Given the description of an element on the screen output the (x, y) to click on. 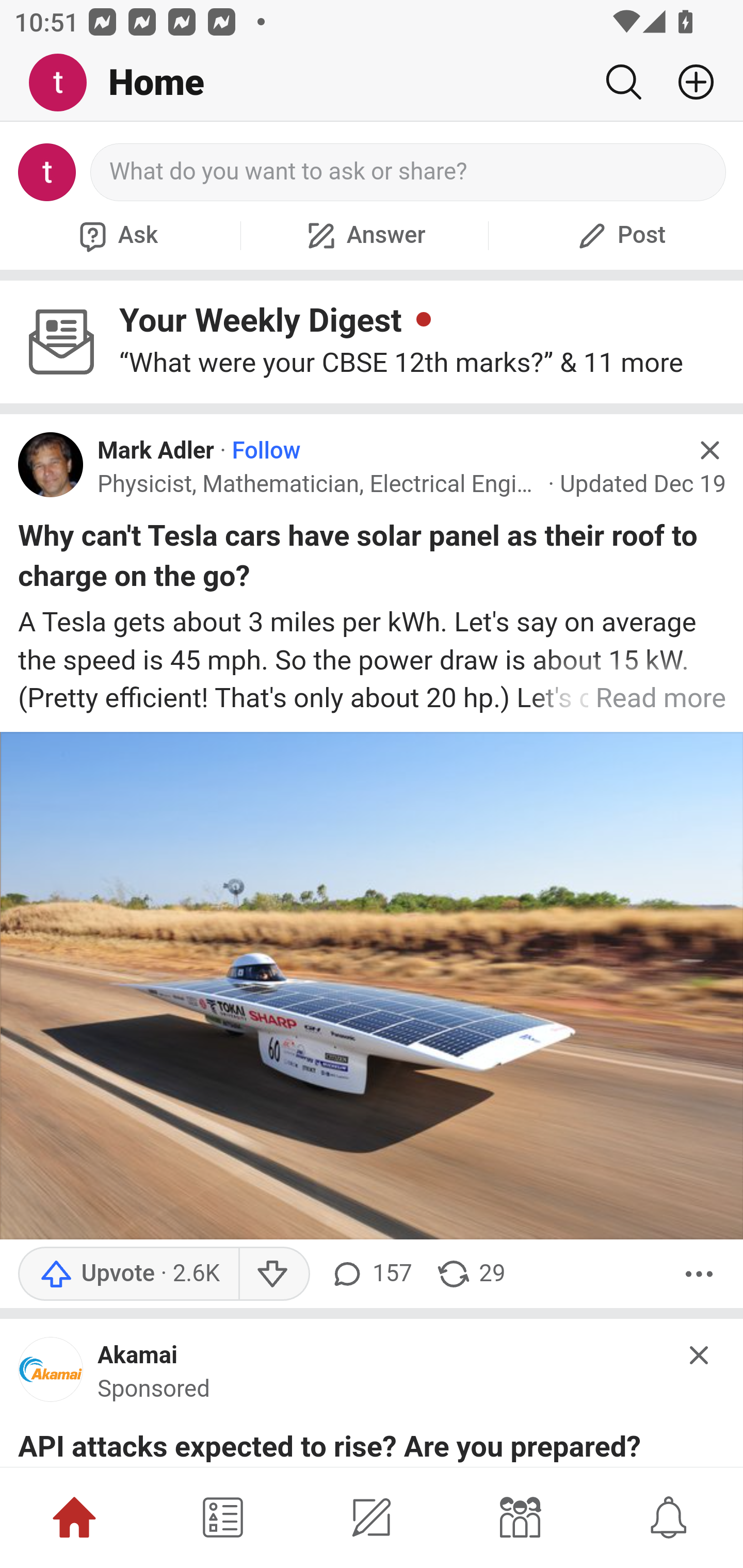
Me Home Search Add (371, 82)
Me (64, 83)
Search (623, 82)
Add (688, 82)
